Given the description of an element on the screen output the (x, y) to click on. 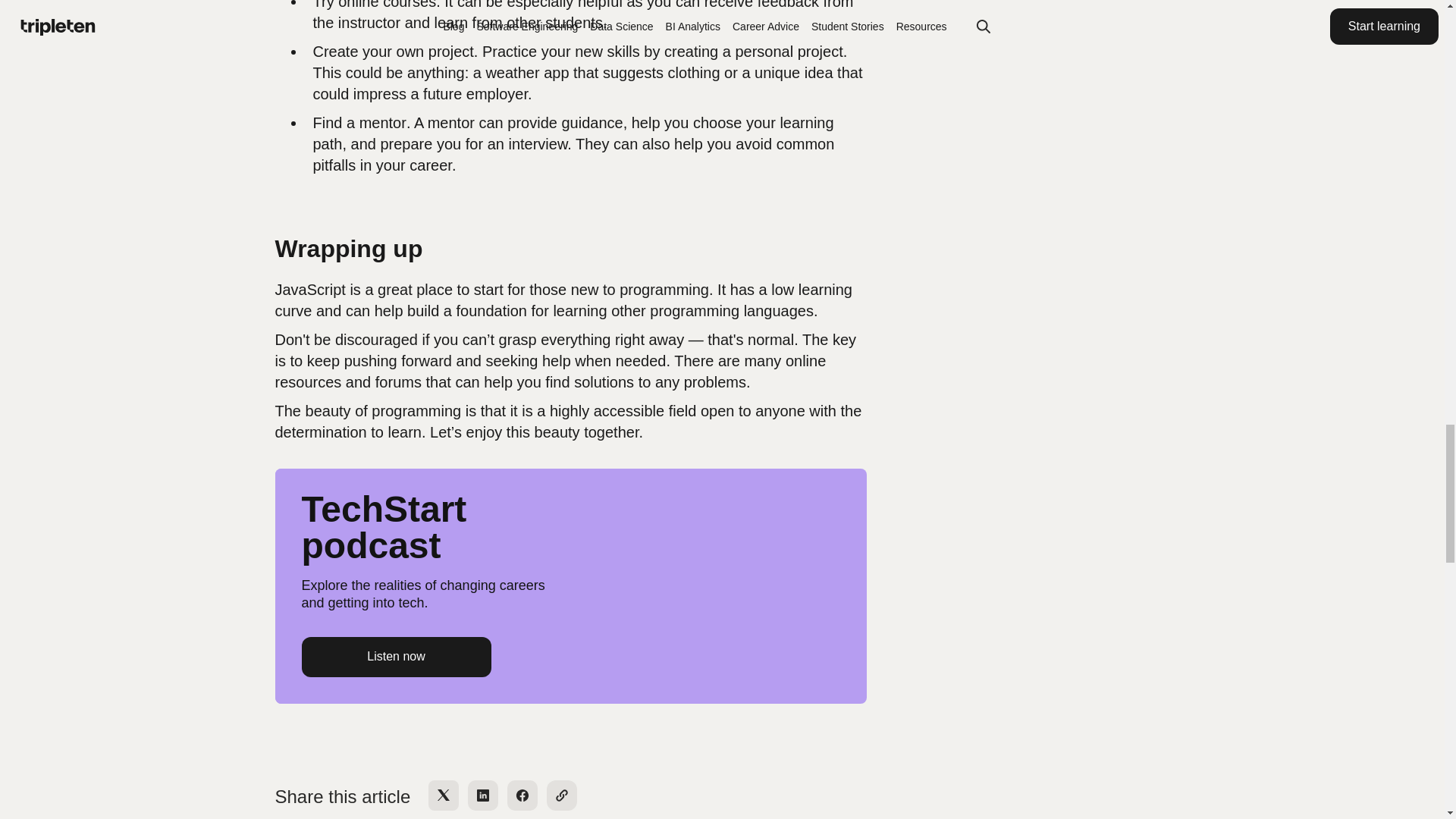
Tweet (443, 795)
Copy Article Link (561, 794)
